Given the description of an element on the screen output the (x, y) to click on. 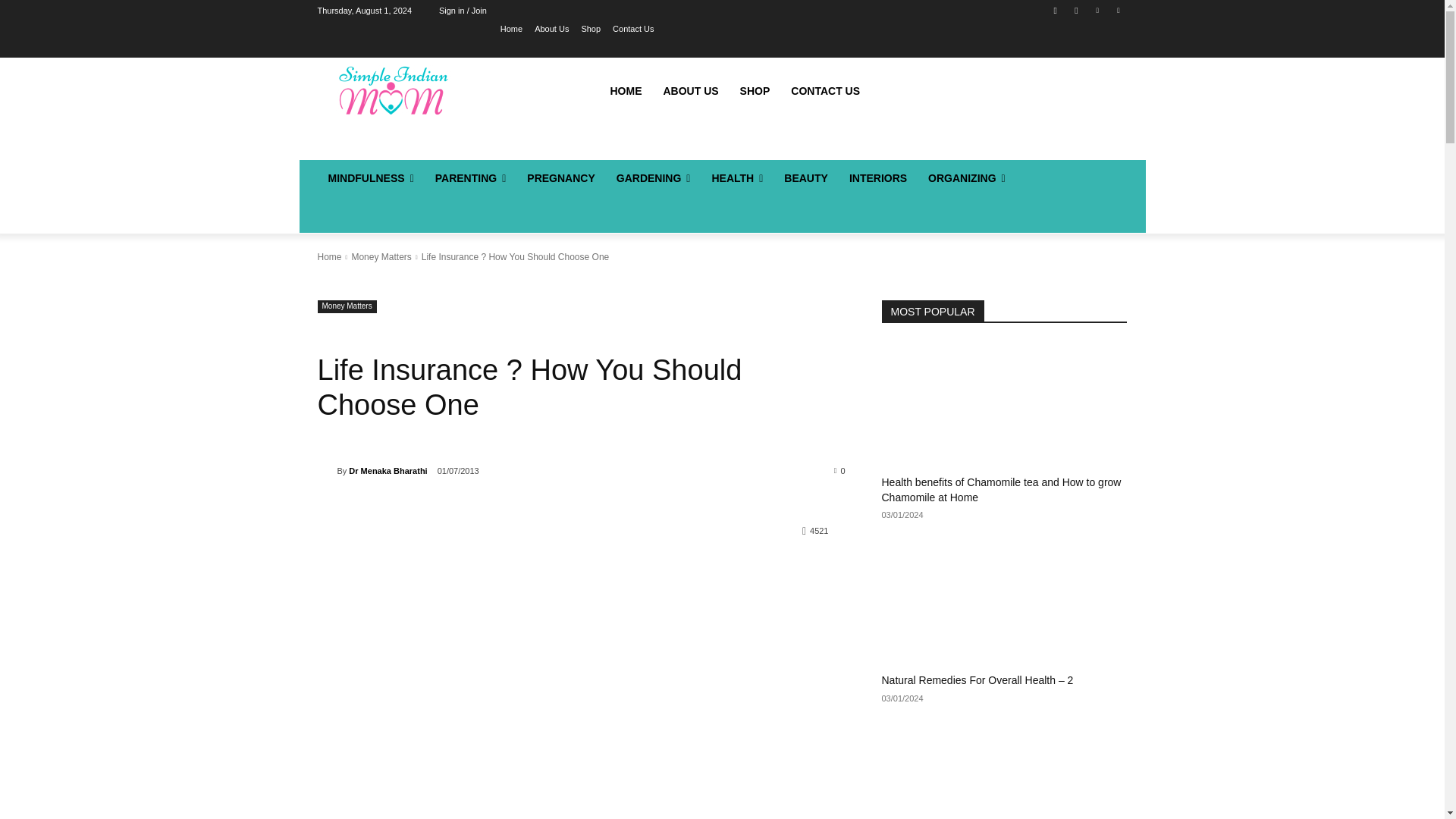
Home (511, 28)
Instagram (1075, 9)
Contact Us (632, 28)
View all posts in Money Matters (380, 256)
Pinterest (1097, 9)
Facebook (1055, 9)
ABOUT US (690, 90)
About Us (551, 28)
Shop (589, 28)
MINDFULNESS (370, 177)
CONTACT US (825, 90)
Dr Menaka Bharathi (326, 470)
Twitter (1117, 9)
SHOP (754, 90)
HOME (625, 90)
